Given the description of an element on the screen output the (x, y) to click on. 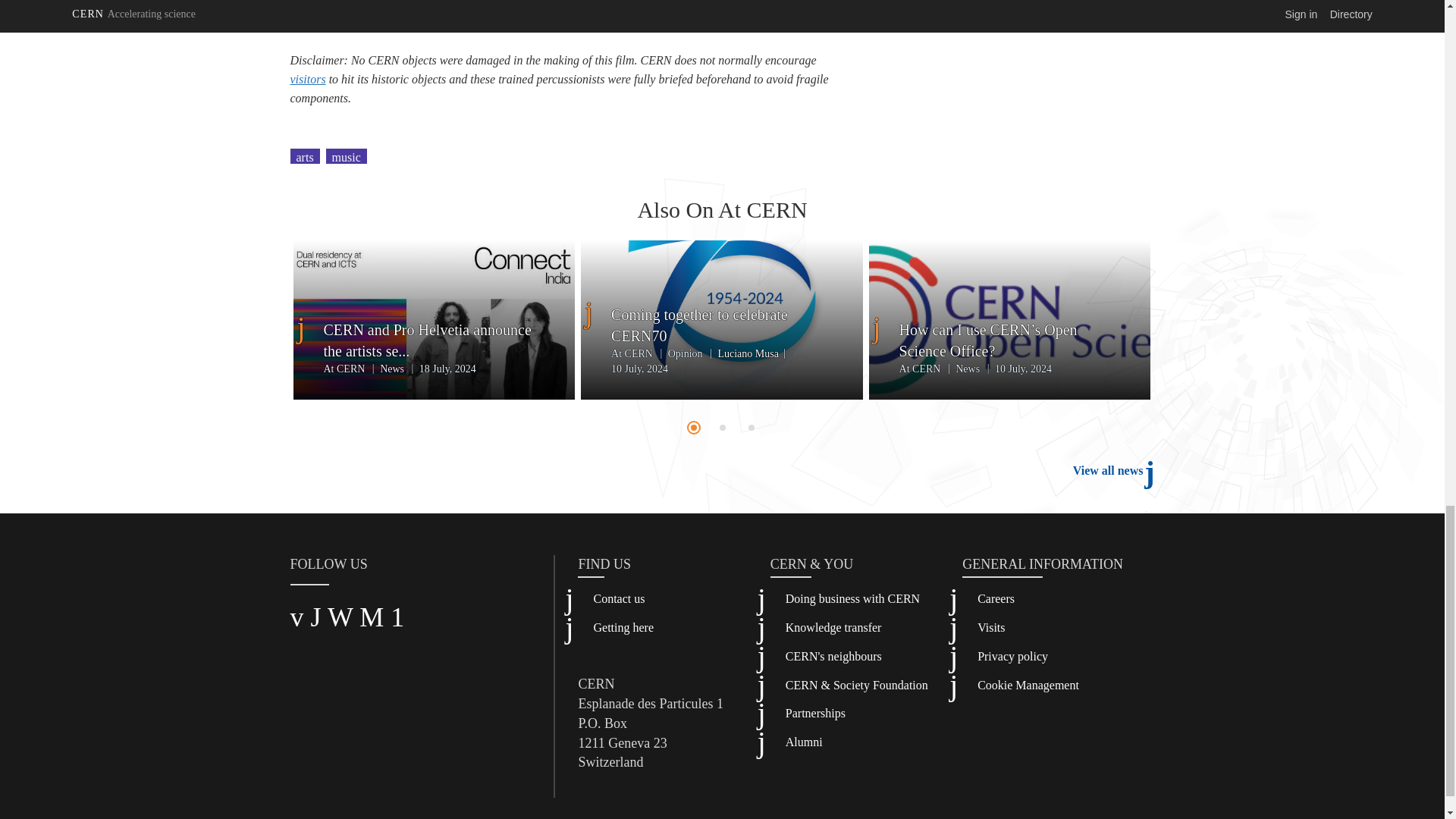
Coming together to celebrate CERN70 (721, 324)
